Given the description of an element on the screen output the (x, y) to click on. 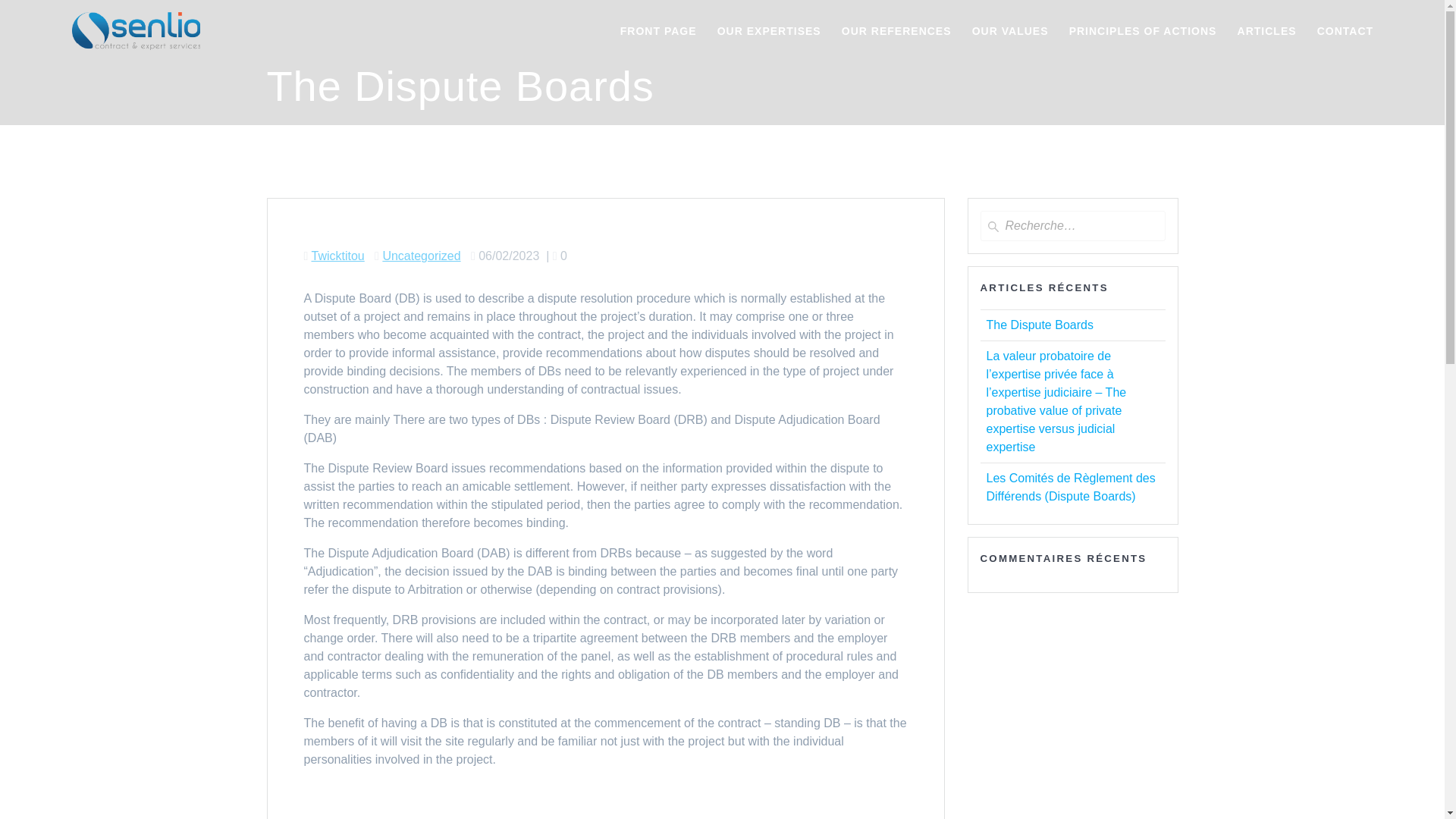
PRINCIPLES OF ACTIONS (1142, 30)
OUR REFERENCES (896, 30)
CONTACT (1345, 30)
Articles par Twicktitou (337, 255)
OUR EXPERTISES (769, 30)
Twicktitou (337, 255)
Uncategorized (420, 255)
FRONT PAGE (658, 30)
ARTICLES (1267, 30)
The Dispute Boards (1039, 324)
OUR VALUES (1010, 30)
